Given the description of an element on the screen output the (x, y) to click on. 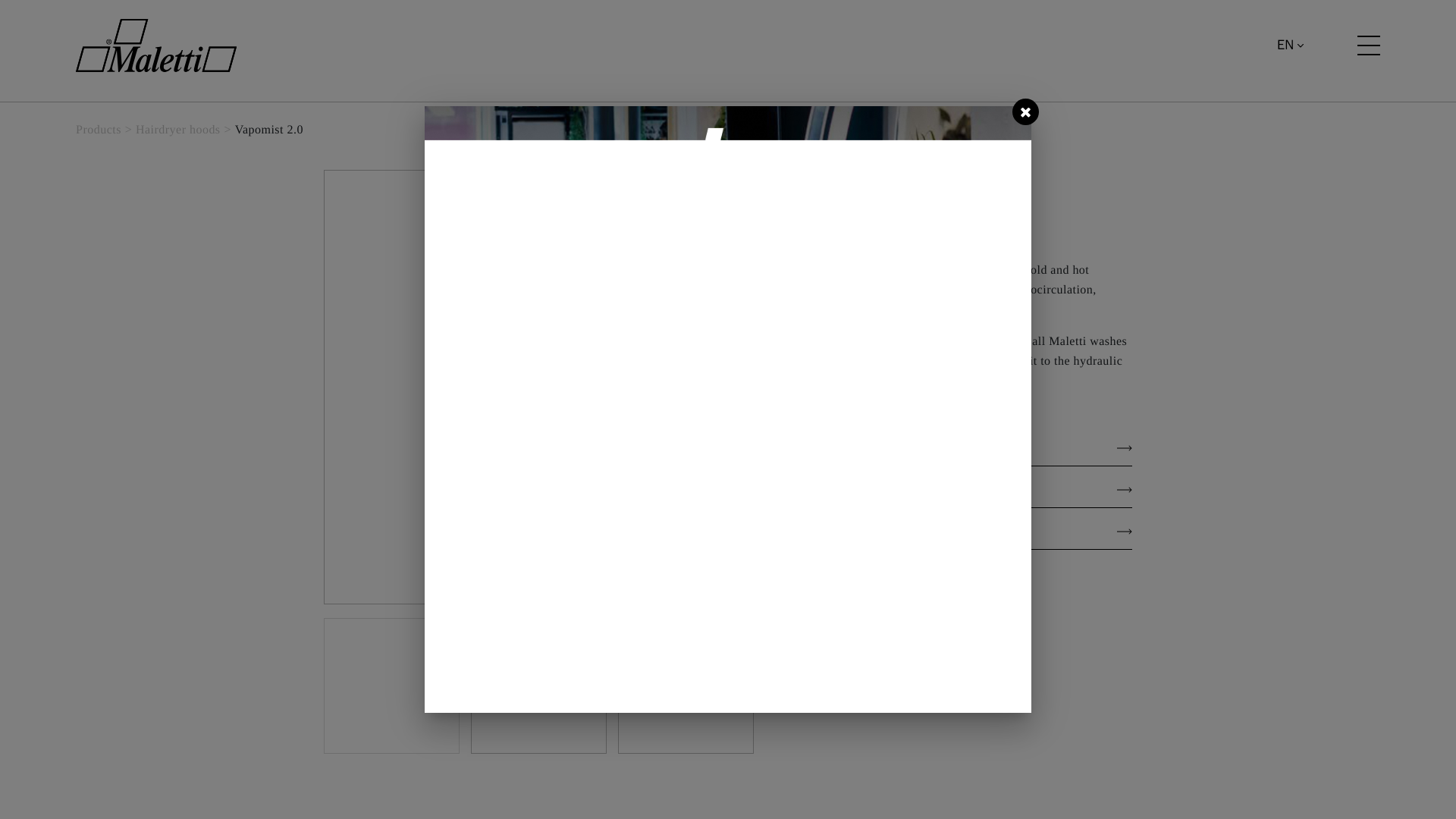
Maletti Creative Team (882, 227)
Products (97, 129)
info request (962, 620)
Maletti (156, 45)
Hairdryer hoods (178, 129)
Maletti (155, 45)
